Given the description of an element on the screen output the (x, y) to click on. 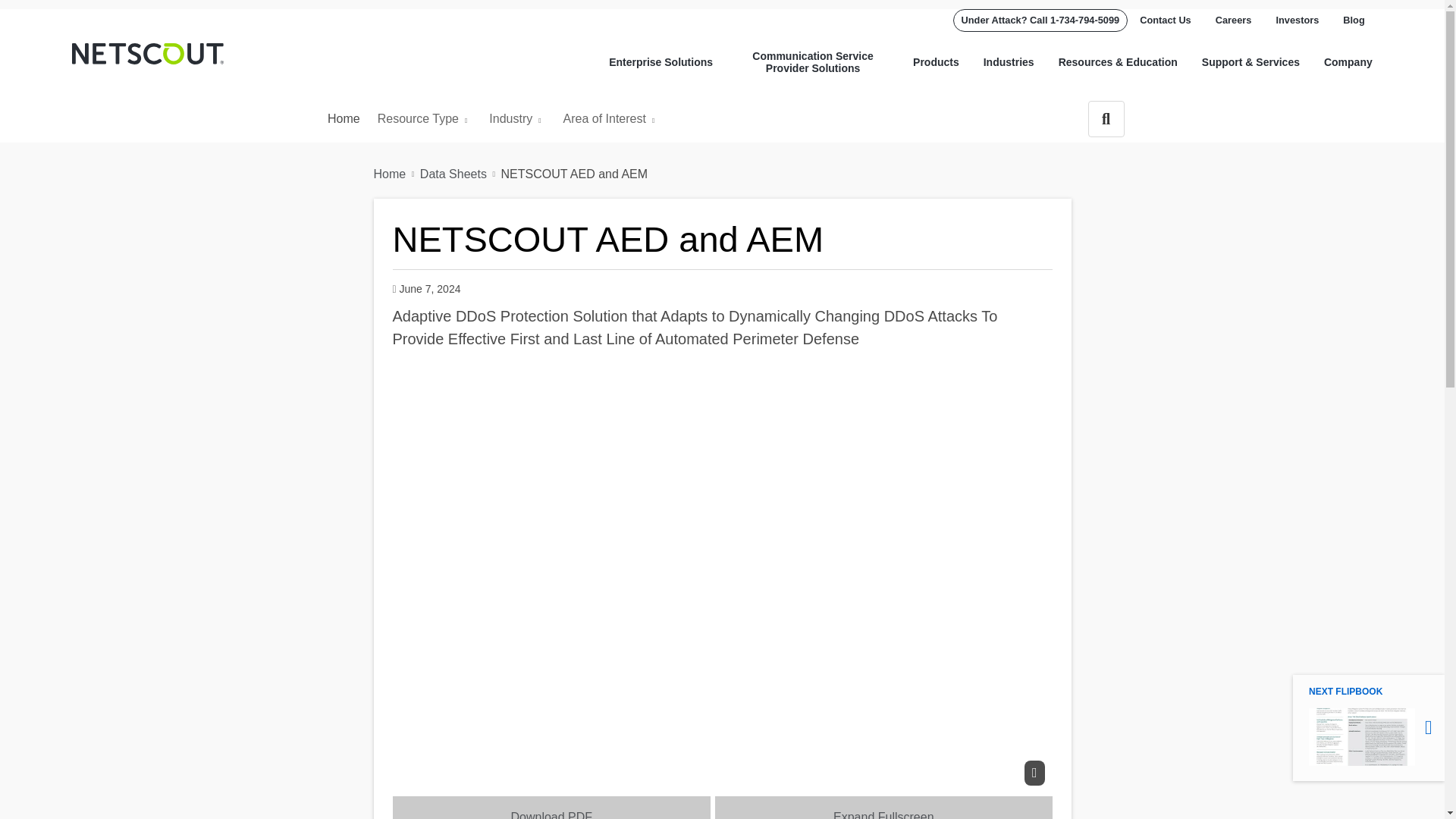
Home (147, 53)
Careers (1233, 20)
Under Attack? Call 1-734-794-5099 (1040, 20)
Blog (1347, 20)
Investors (1296, 20)
Contact Us (1165, 20)
